Given the description of an element on the screen output the (x, y) to click on. 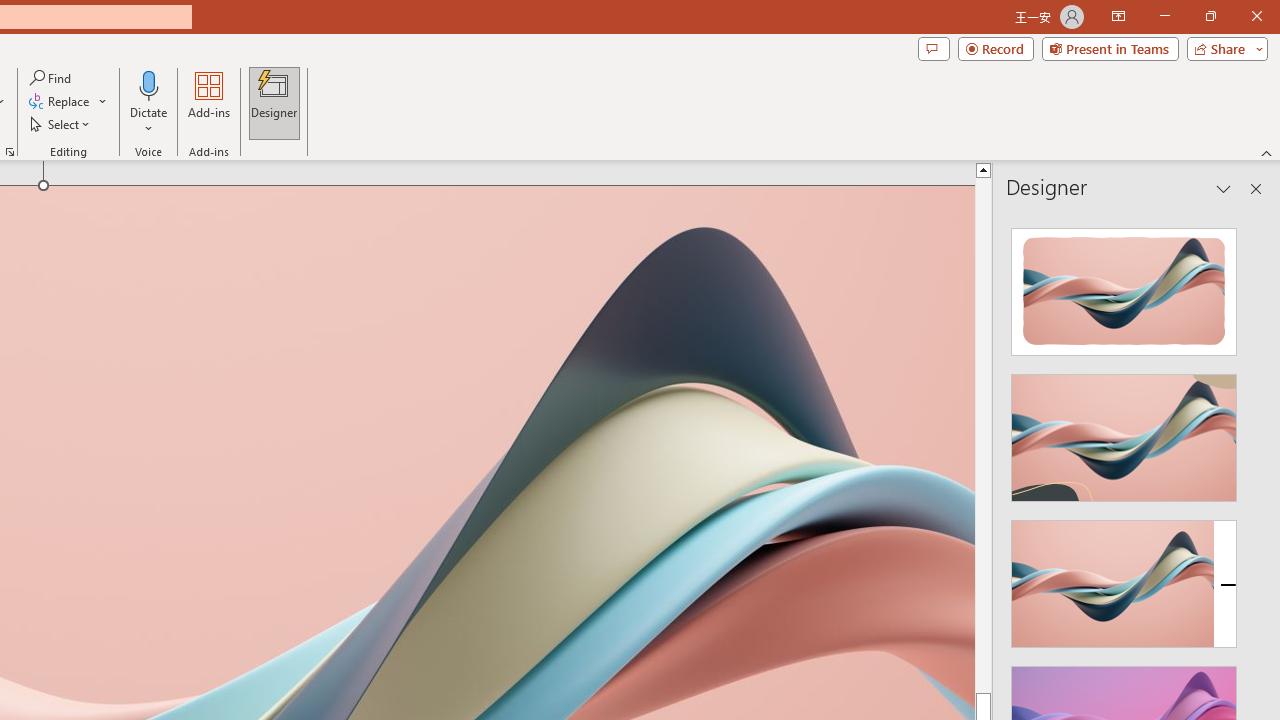
Recommended Design: Design Idea (1124, 286)
